Given the description of an element on the screen output the (x, y) to click on. 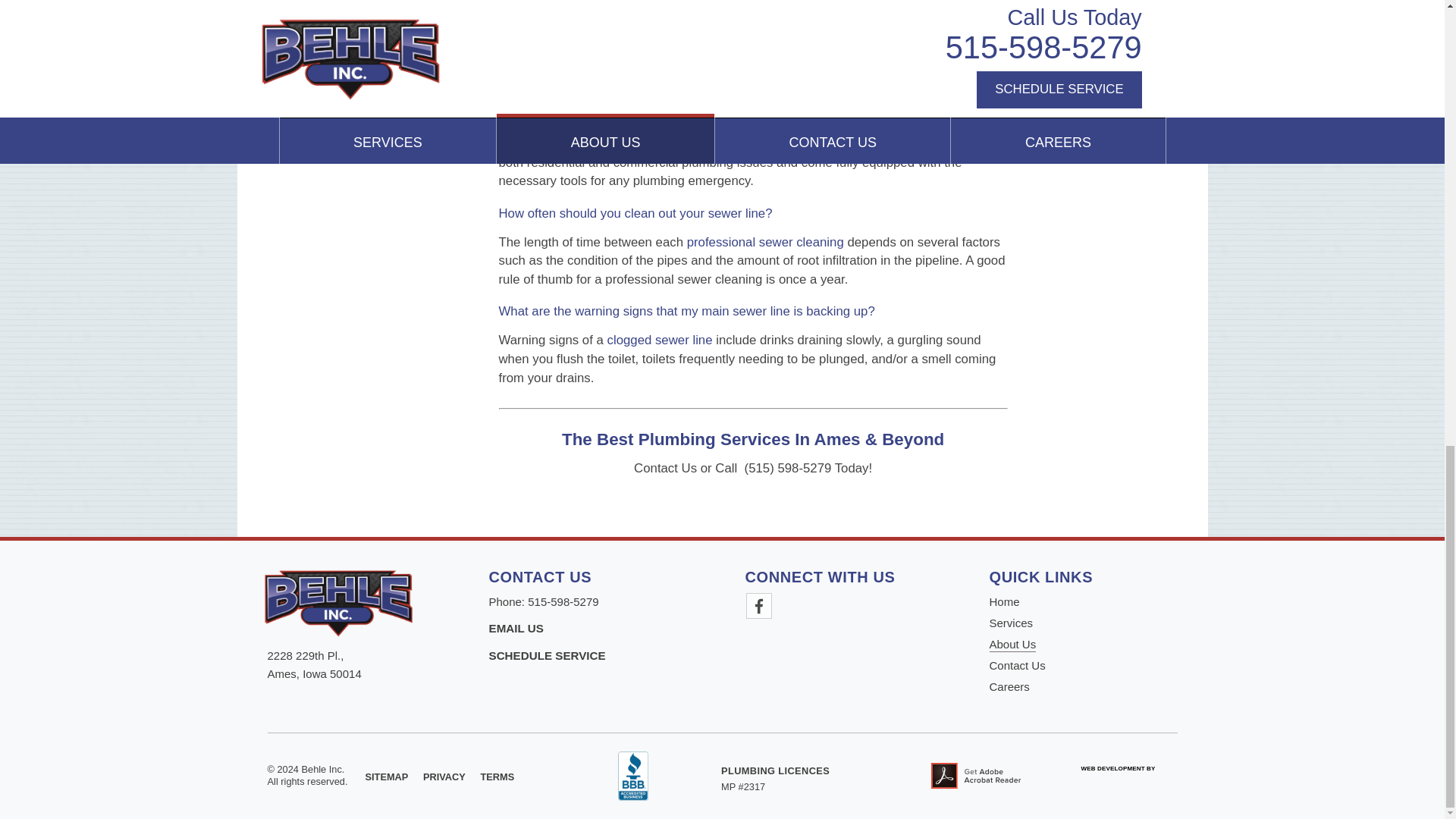
Contact Us (546, 655)
Contact Us (515, 627)
